Given the description of an element on the screen output the (x, y) to click on. 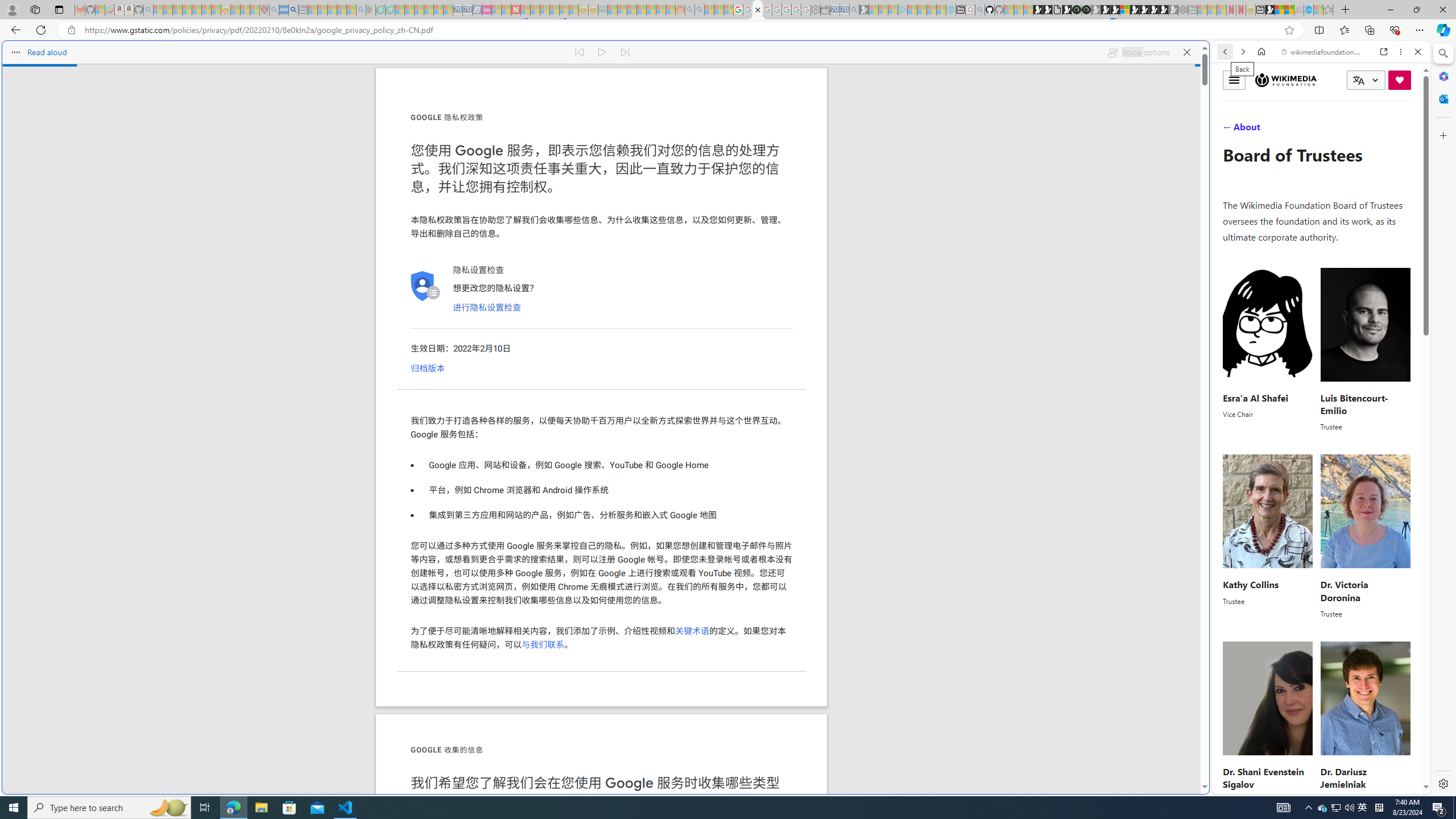
Toggle menu (1233, 80)
Esra'a Al Shafei (1254, 397)
